Given the description of an element on the screen output the (x, y) to click on. 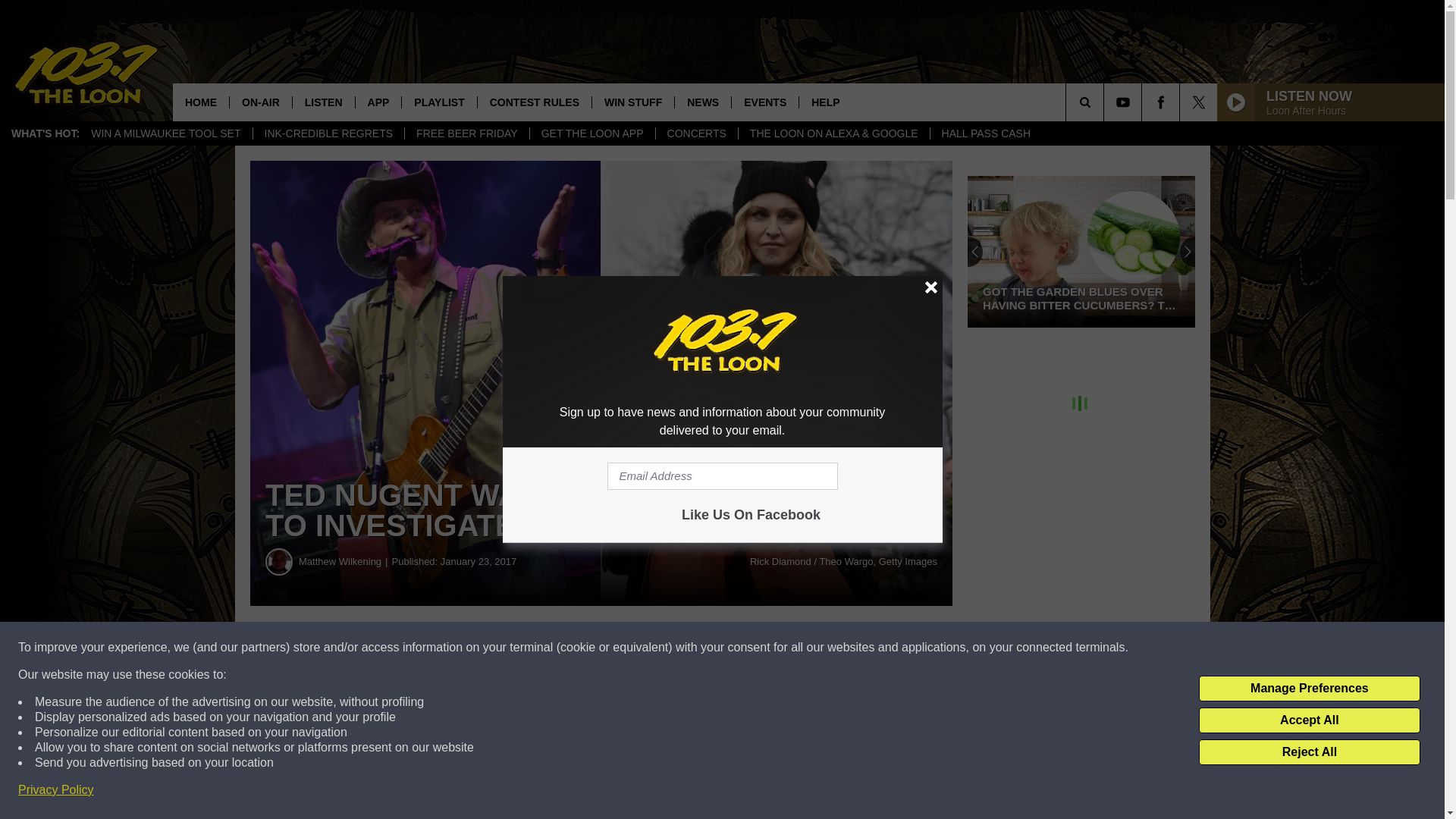
Share on Twitter (741, 647)
SEARCH (1106, 102)
Privacy Policy (55, 789)
LISTEN (323, 102)
Share on Facebook (460, 647)
Reject All (1309, 751)
INK-CREDIBLE REGRETS (327, 133)
CONCERTS (696, 133)
SEARCH (1106, 102)
WIN A MILWAUKEE TOOL SET (165, 133)
FREE BEER FRIDAY (466, 133)
Accept All (1309, 720)
Manage Preferences (1309, 688)
GET THE LOON APP (592, 133)
HALL PASS CASH (986, 133)
